Given the description of an element on the screen output the (x, y) to click on. 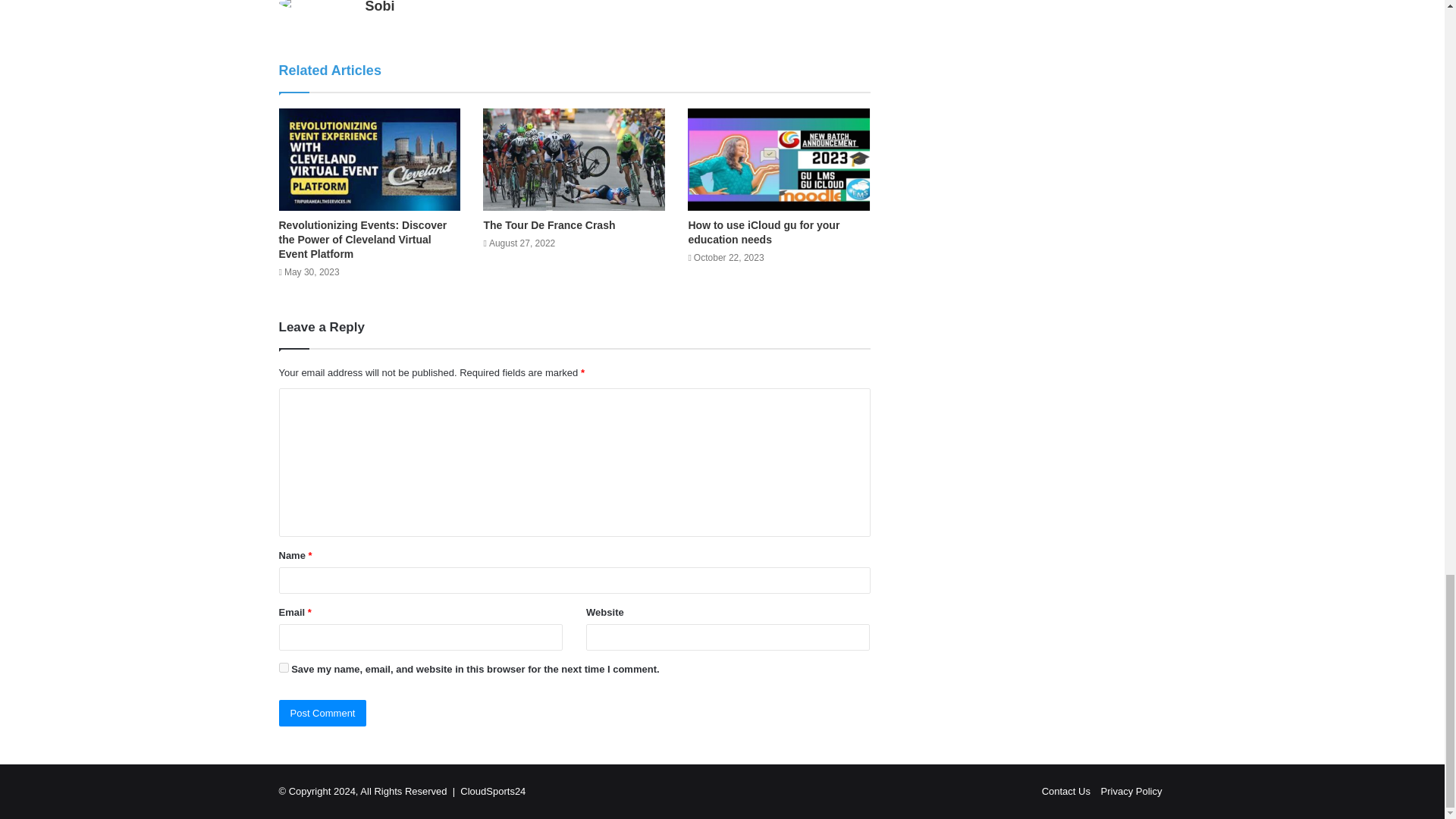
yes (283, 667)
The Tour De France Crash (548, 224)
How to use iCloud gu for your education needs (763, 232)
Post Comment (322, 713)
Sobi (379, 6)
